Given the description of an element on the screen output the (x, y) to click on. 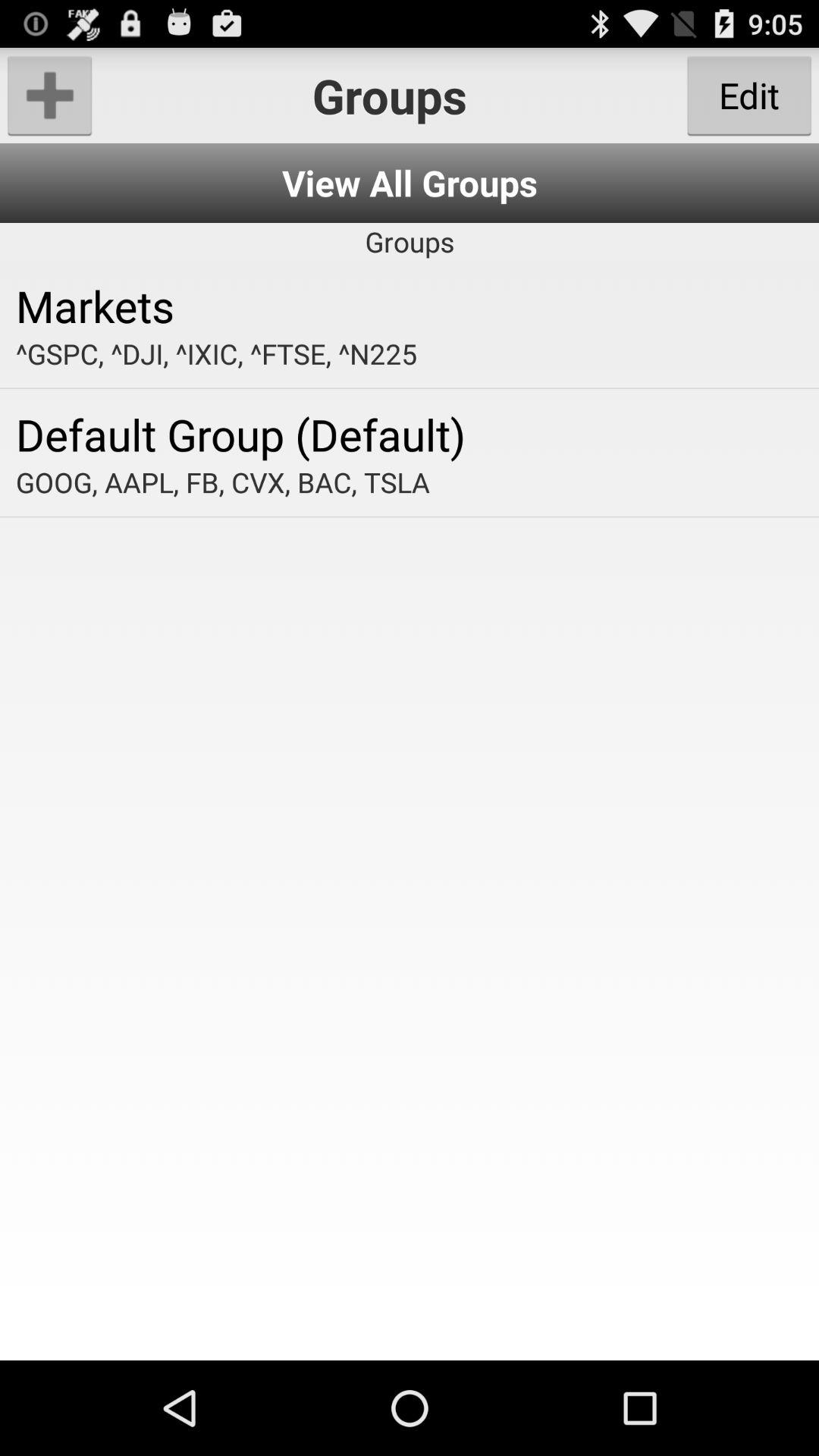
select icon above the view all groups item (49, 95)
